Given the description of an element on the screen output the (x, y) to click on. 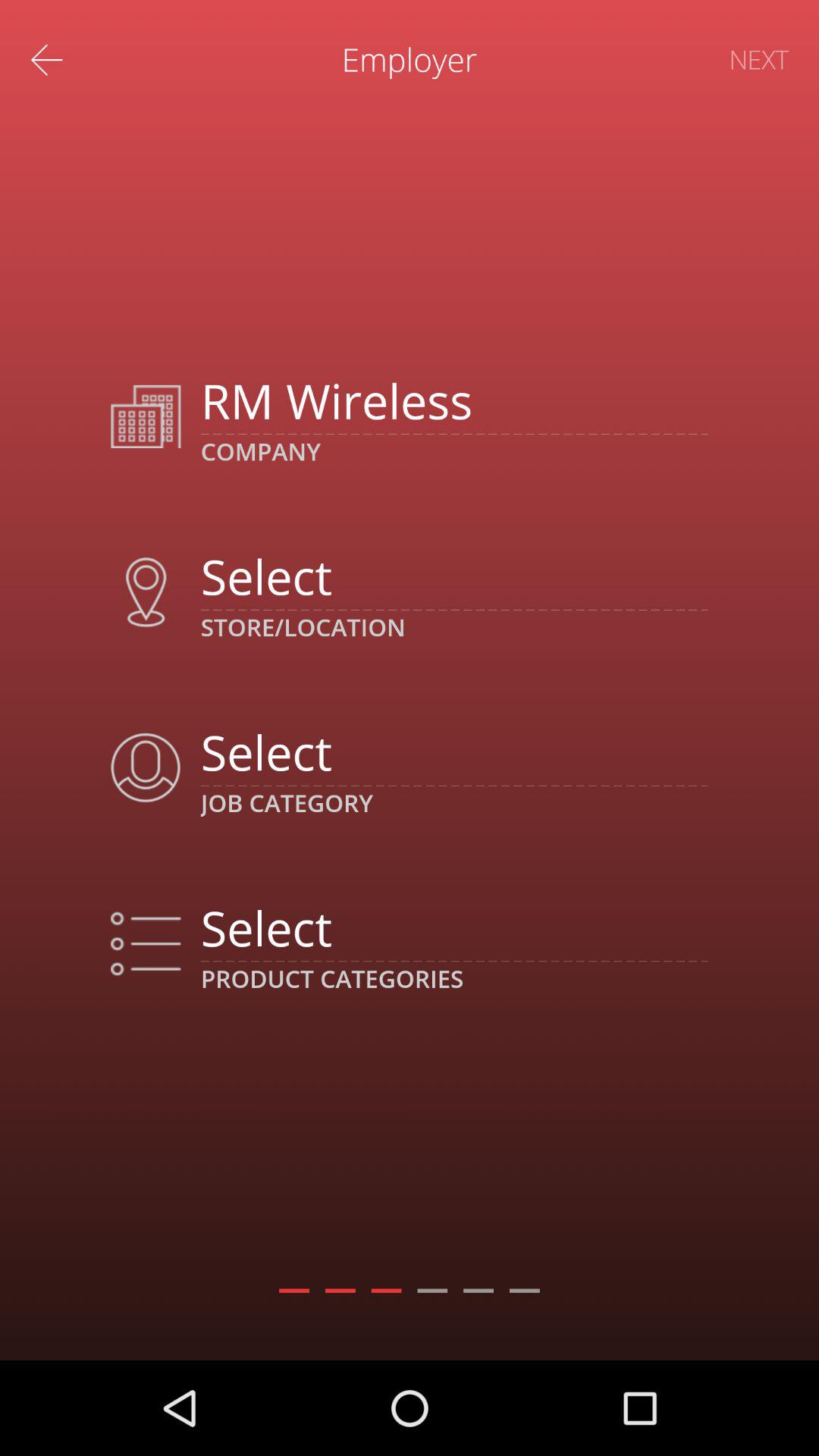
choose location (454, 575)
